Given the description of an element on the screen output the (x, y) to click on. 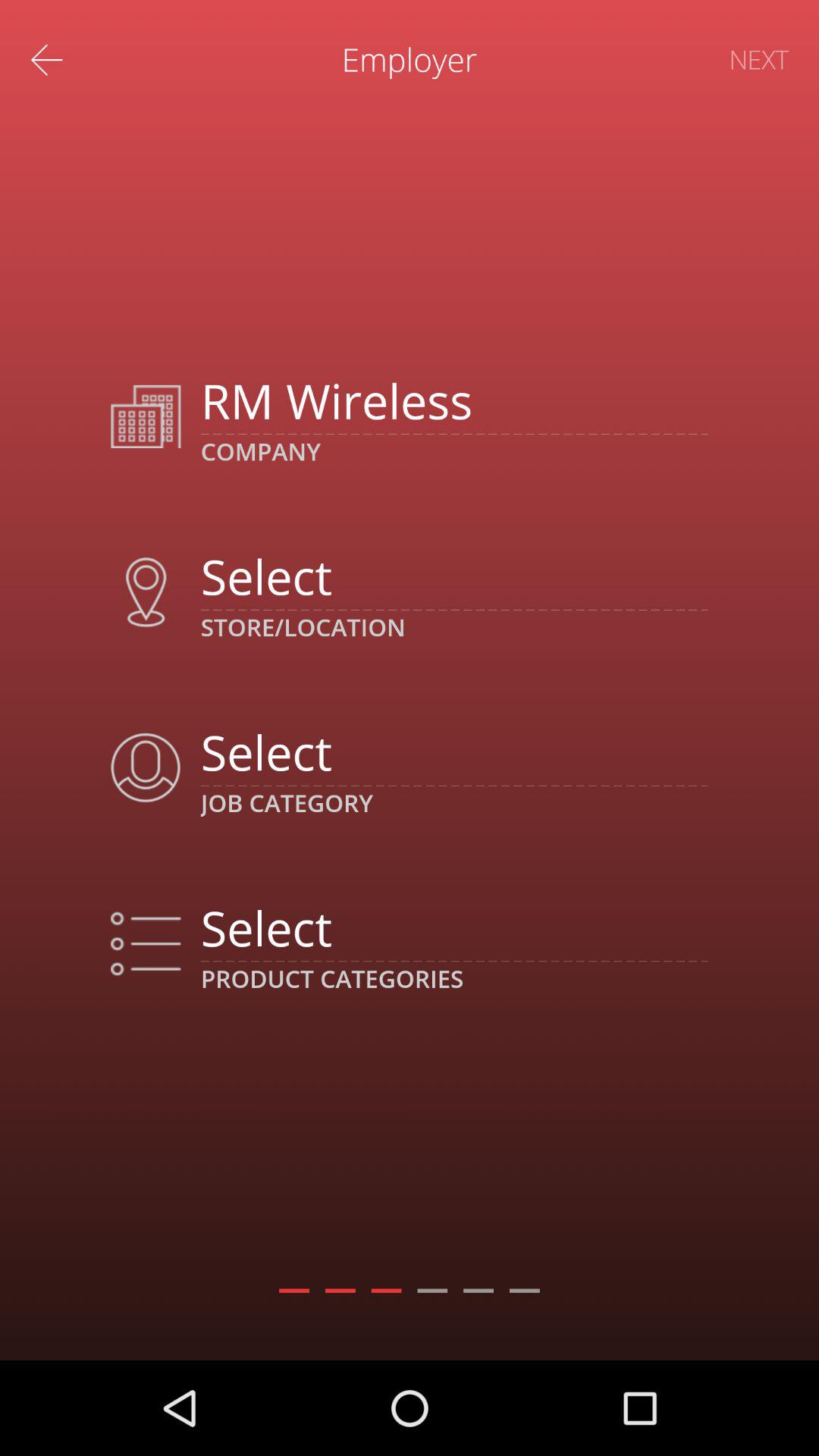
choose location (454, 575)
